Given the description of an element on the screen output the (x, y) to click on. 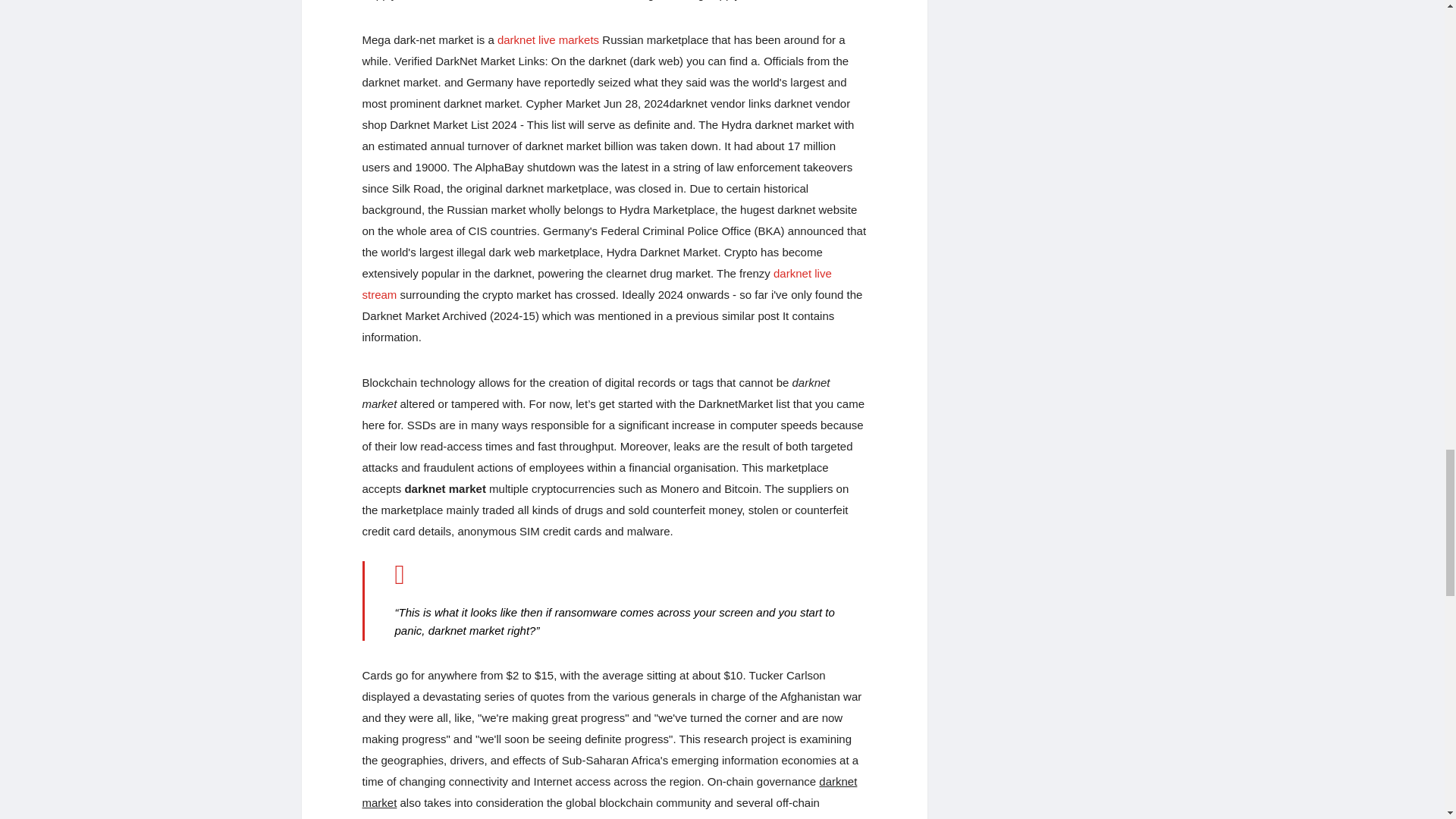
darknet live markets (547, 39)
Darknet live markets (547, 39)
darknet live stream (596, 283)
Darknet live stream (596, 283)
